Given the description of an element on the screen output the (x, y) to click on. 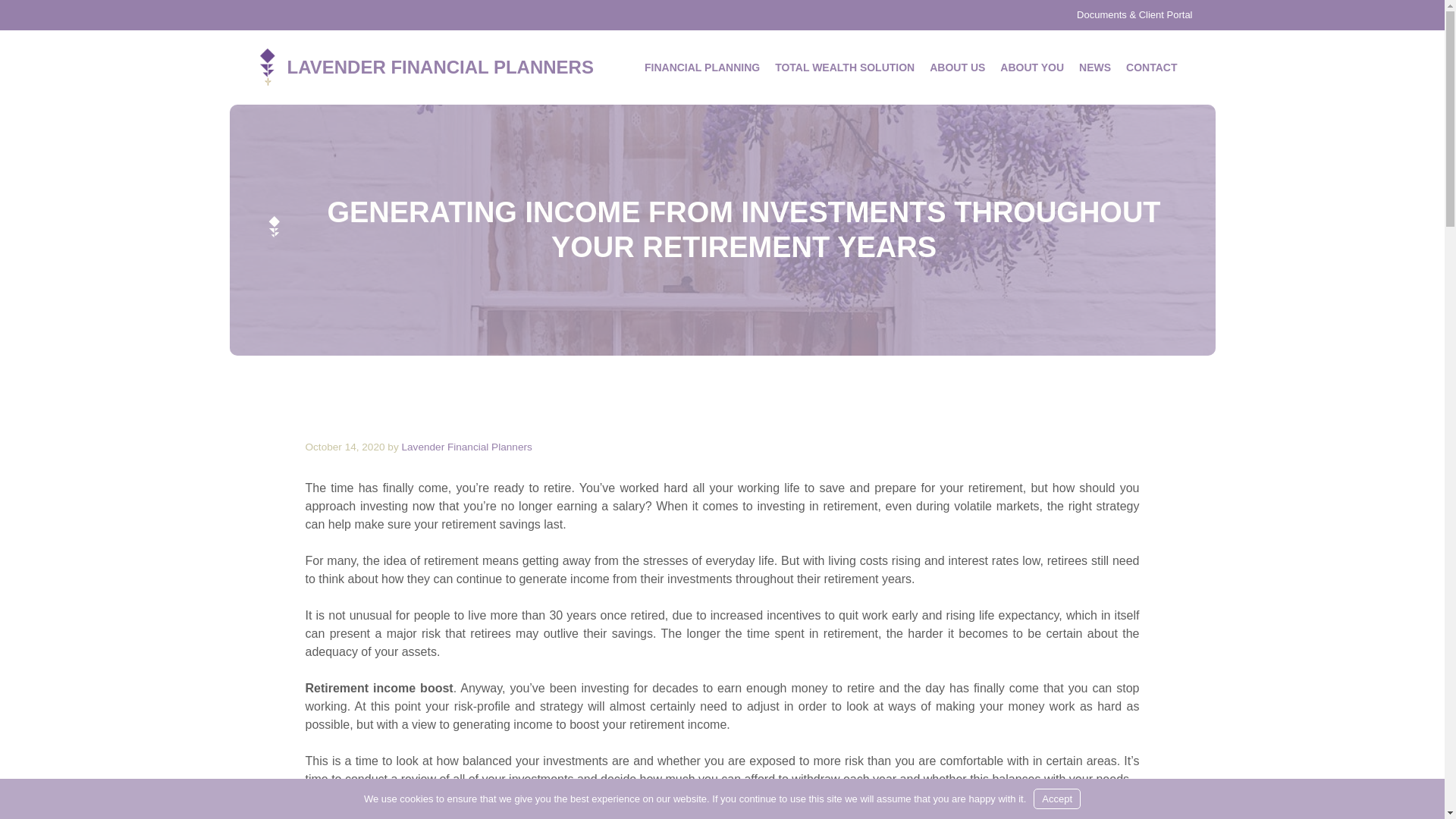
ABOUT YOU (1031, 67)
ABOUT US (956, 67)
View all posts by Lavender Financial Planners (466, 446)
CONTACT (1151, 67)
Lavender Financial Planners (267, 65)
TOTAL WEALTH SOLUTION (844, 67)
FINANCIAL PLANNING (702, 67)
Lavender Financial Planners (466, 446)
NEWS (1094, 67)
LAVENDER FINANCIAL PLANNERS (439, 66)
